Given the description of an element on the screen output the (x, y) to click on. 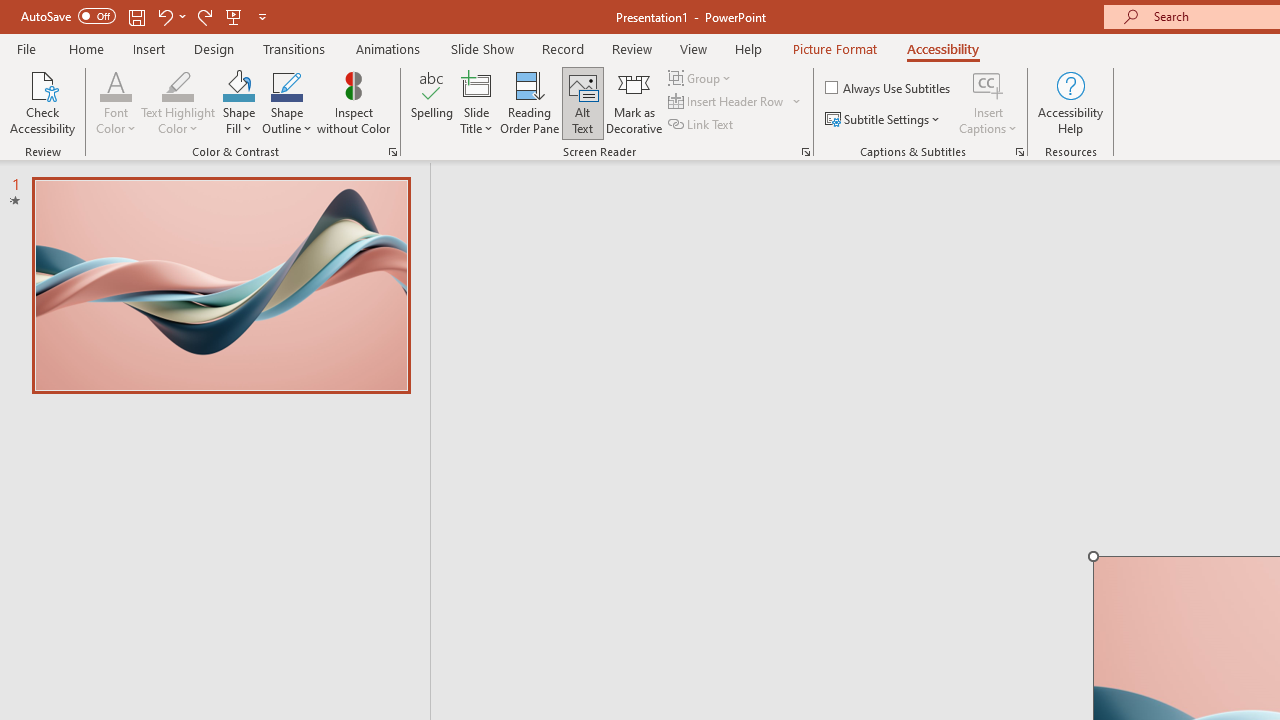
Subtitle Settings (884, 119)
Reading Order Pane (529, 102)
Link Text (702, 124)
Accessibility Help (1070, 102)
